Given the description of an element on the screen output the (x, y) to click on. 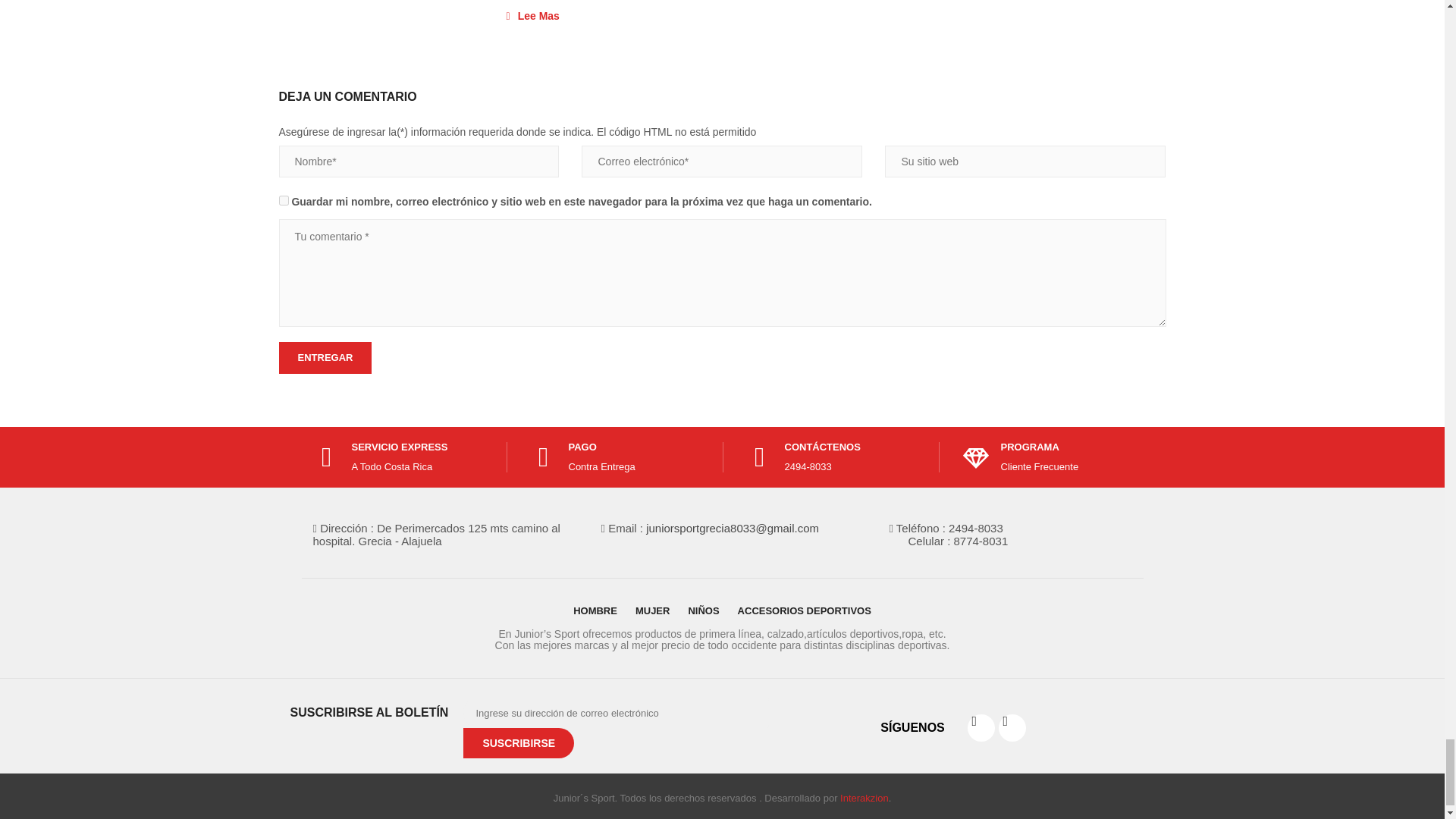
yes (283, 200)
Entregar (325, 357)
suscribirse (518, 743)
